Given the description of an element on the screen output the (x, y) to click on. 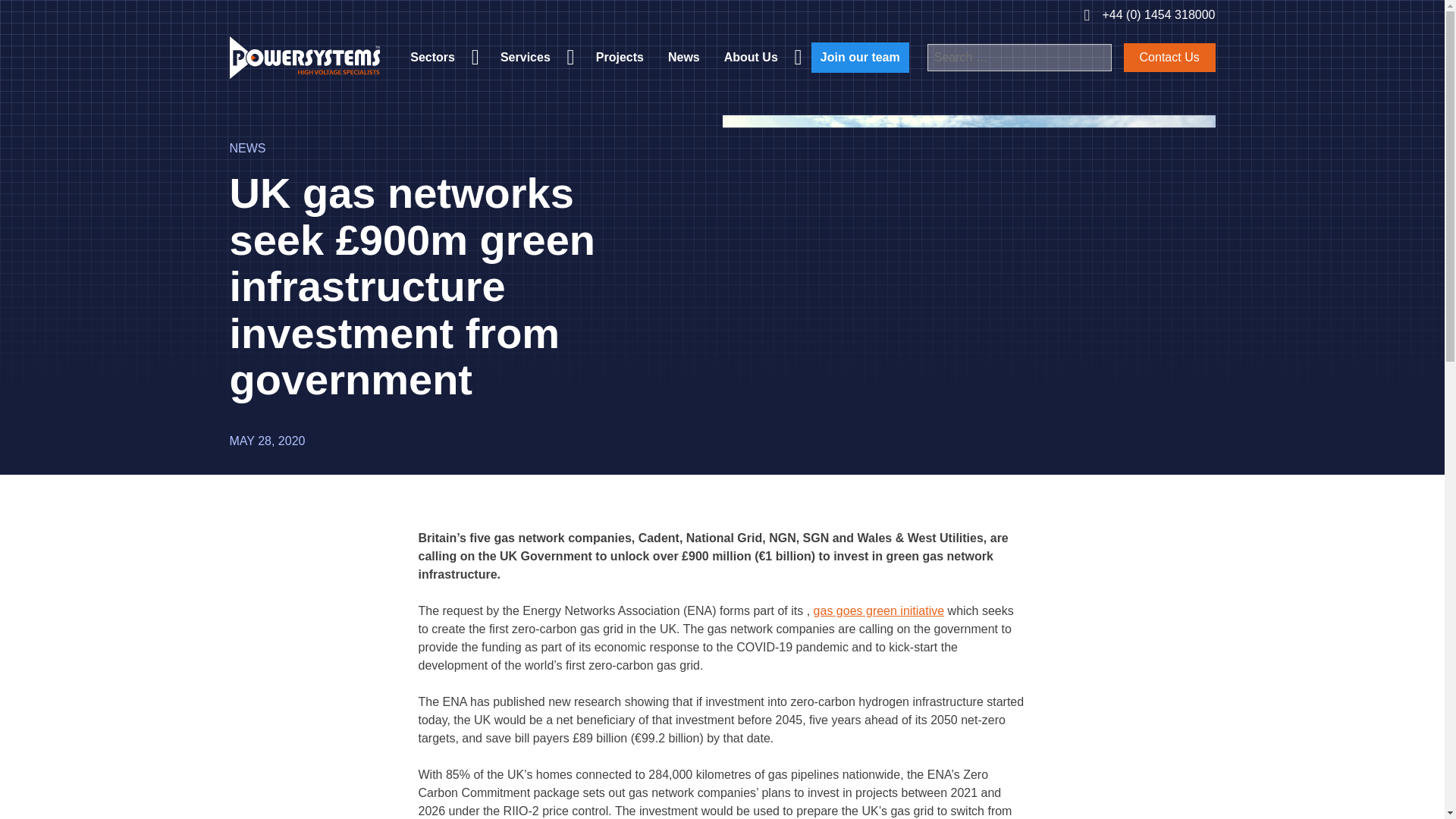
About Us (760, 57)
Search (1095, 57)
Join our team (859, 57)
Search (1095, 57)
Services (535, 57)
News (683, 57)
Sectors (442, 57)
Projects (619, 57)
